Given the description of an element on the screen output the (x, y) to click on. 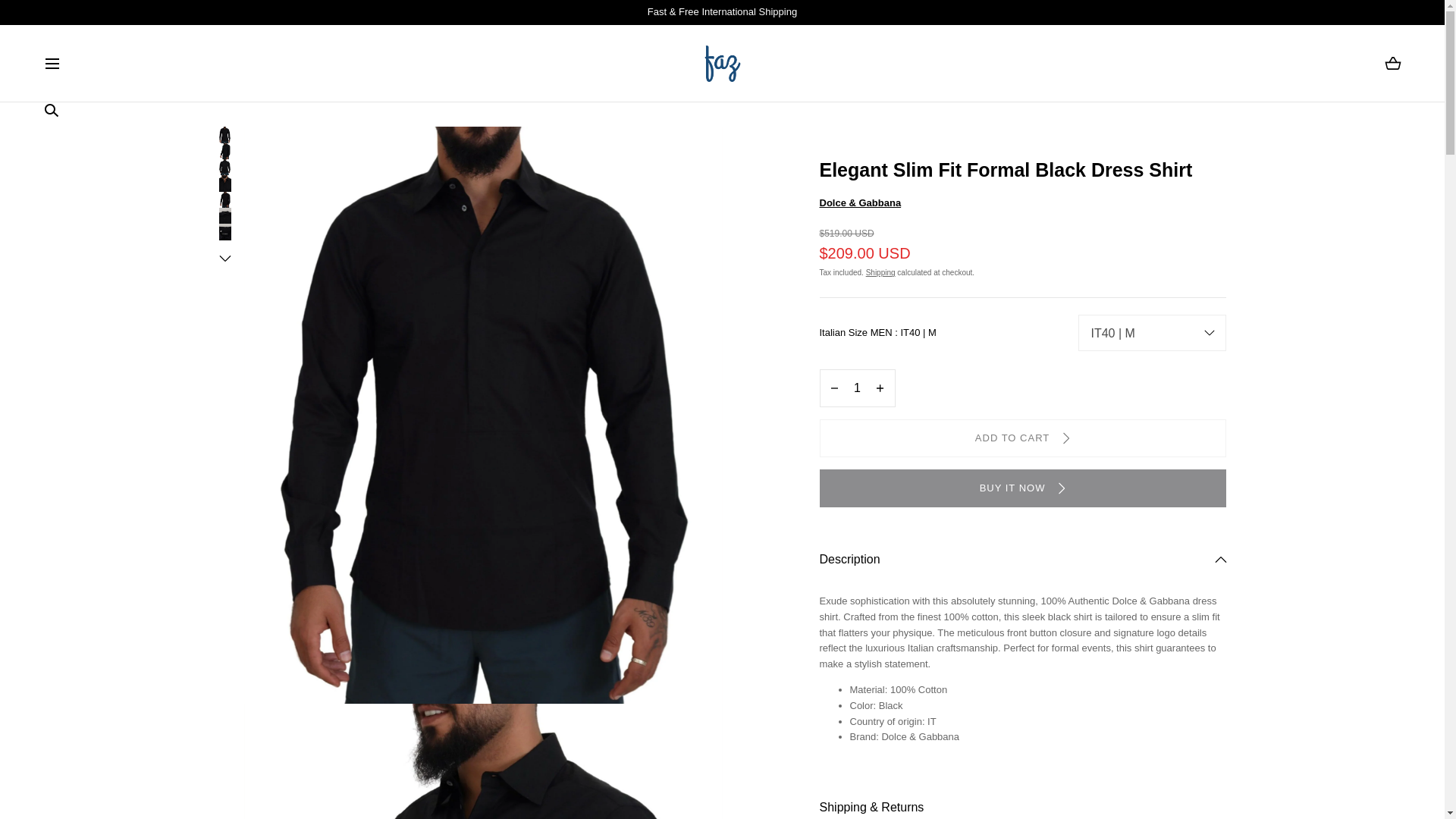
1 (856, 388)
SKIP TO CONTENT (80, 18)
